Given the description of an element on the screen output the (x, y) to click on. 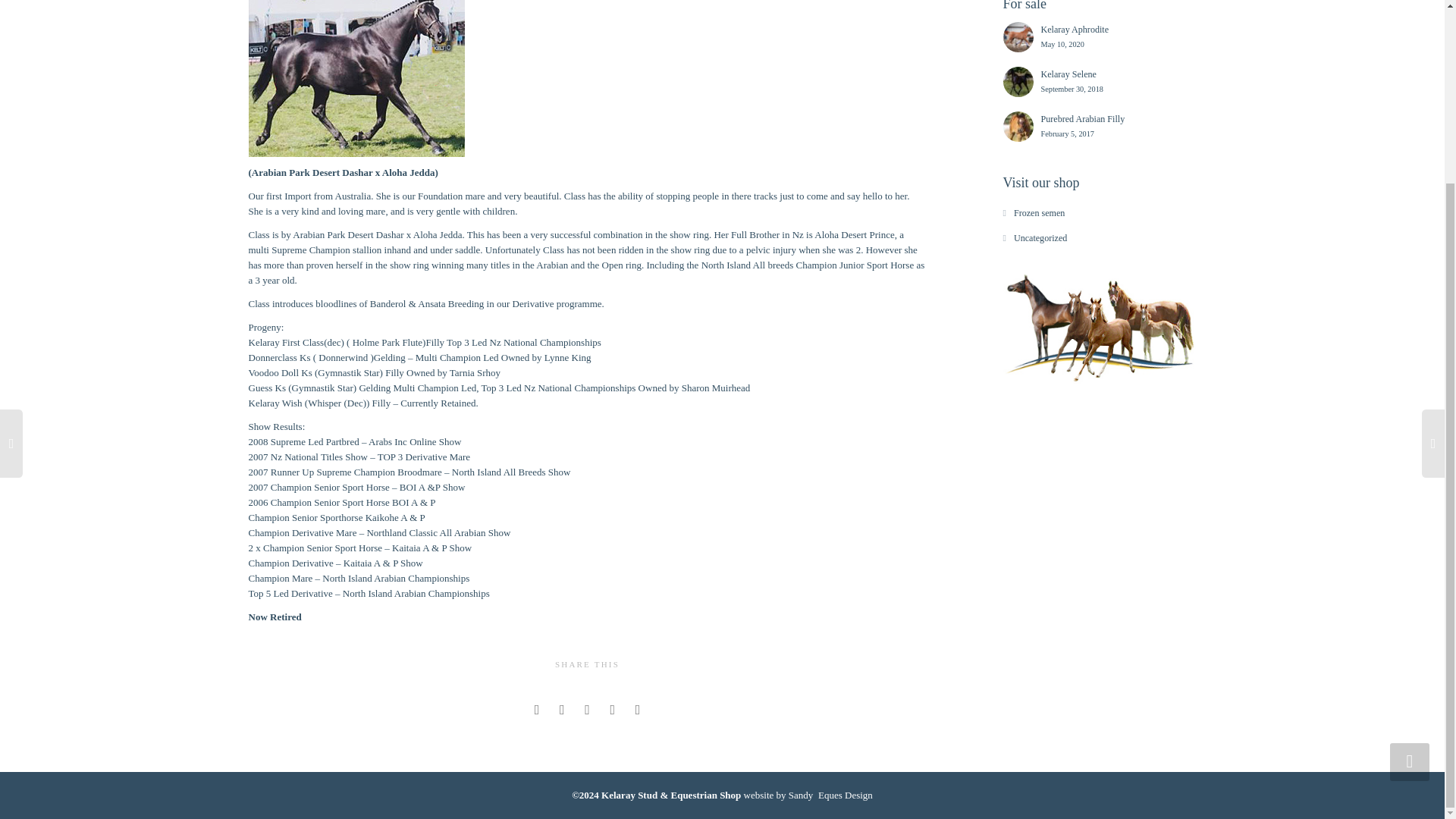
Frozen semen (1099, 126)
Uncategorized (1038, 213)
Sandy  Eques Design (1099, 81)
